Given the description of an element on the screen output the (x, y) to click on. 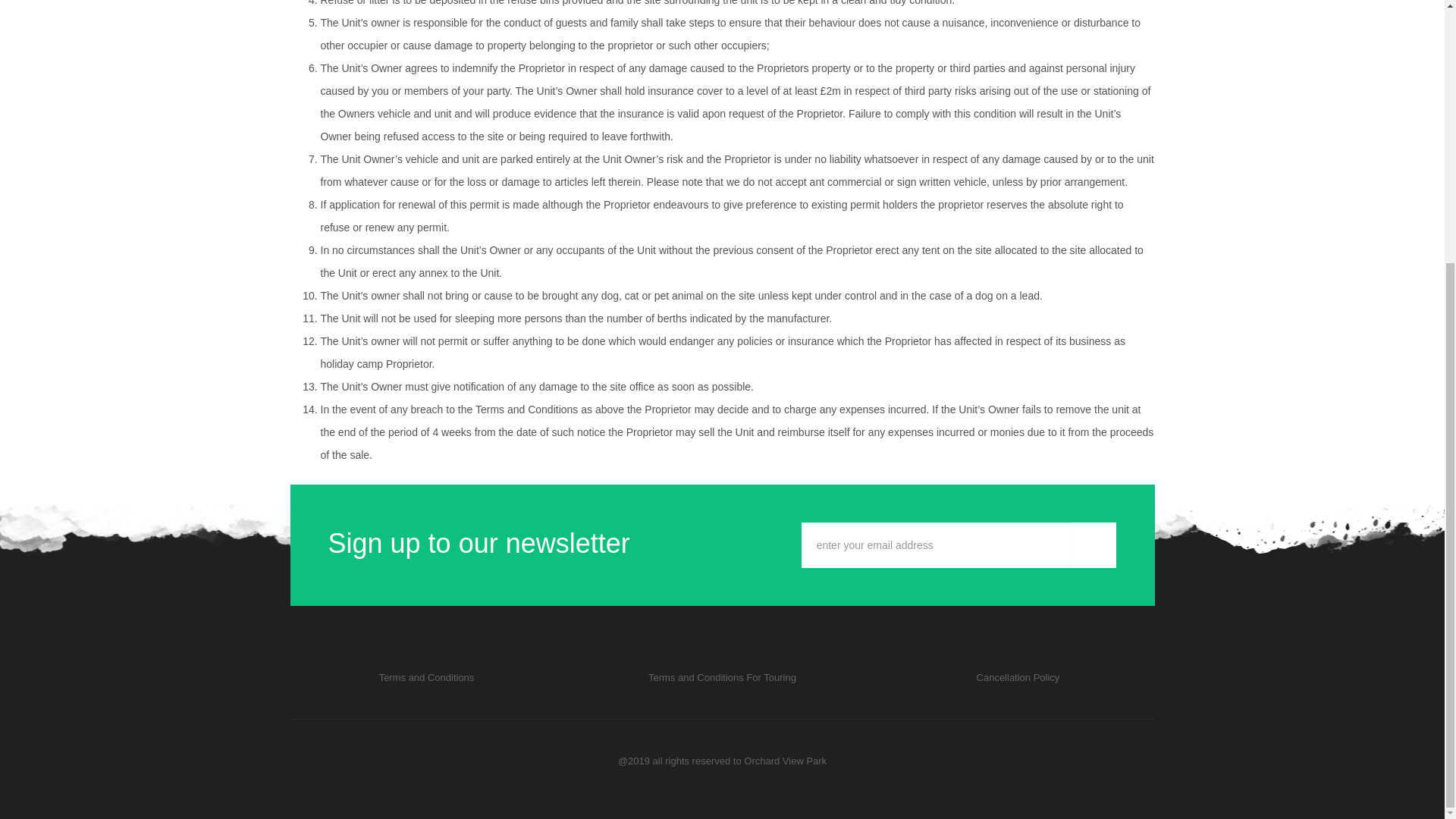
Terms and Conditions (721, 677)
Terms and Conditions (426, 677)
Terms and Conditions (426, 677)
Terms and Conditions (1017, 677)
Cancellation Policy (1017, 677)
Terms and Conditions For Touring (721, 677)
